Given the description of an element on the screen output the (x, y) to click on. 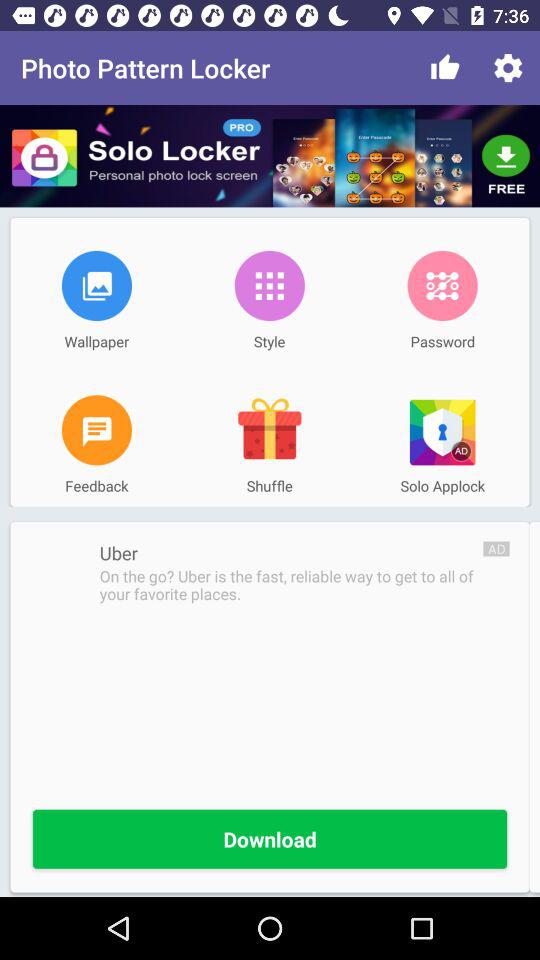
turn on app next to the photo pattern locker icon (444, 67)
